Given the description of an element on the screen output the (x, y) to click on. 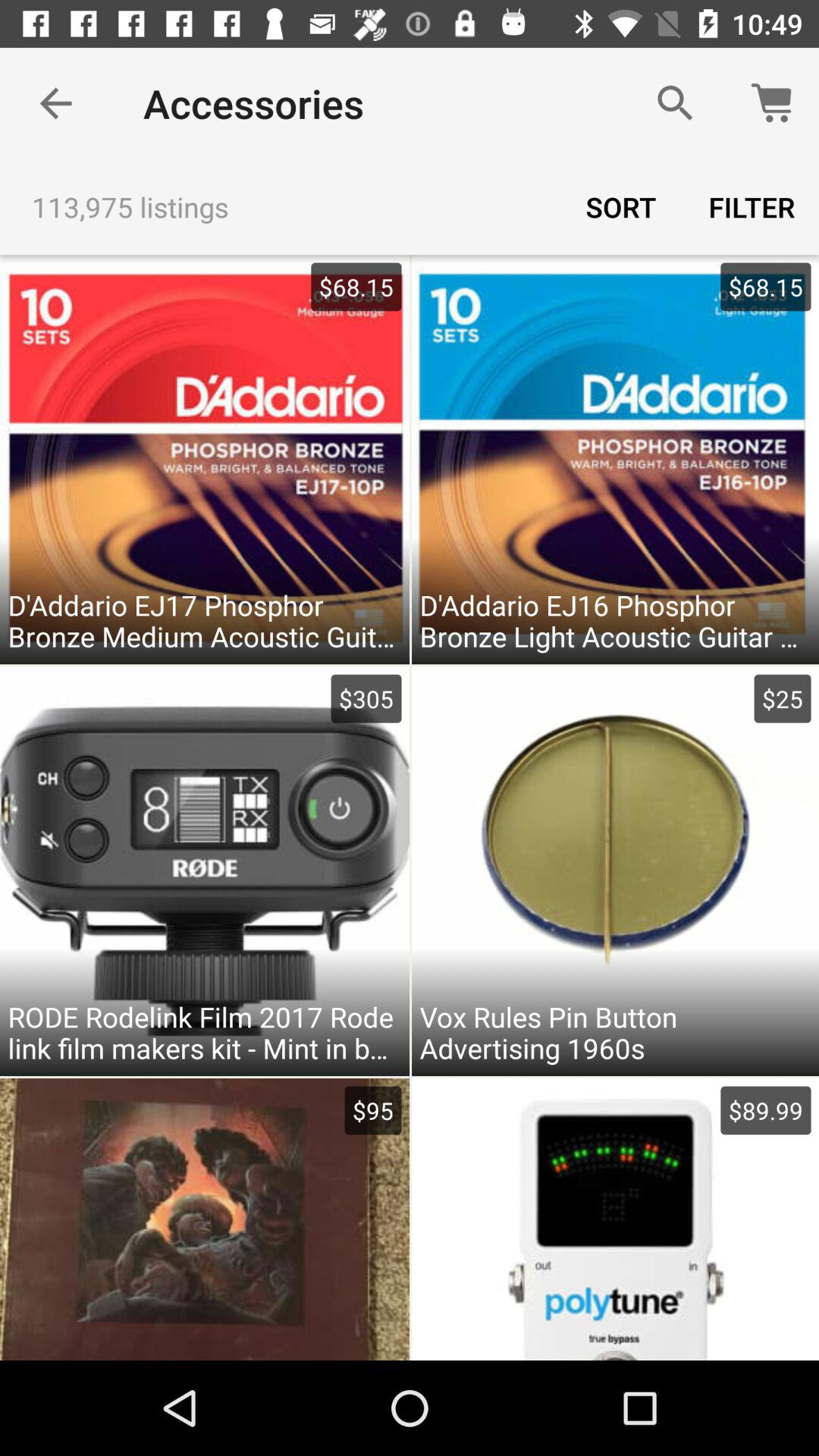
select item to the left of accessories (55, 103)
